Given the description of an element on the screen output the (x, y) to click on. 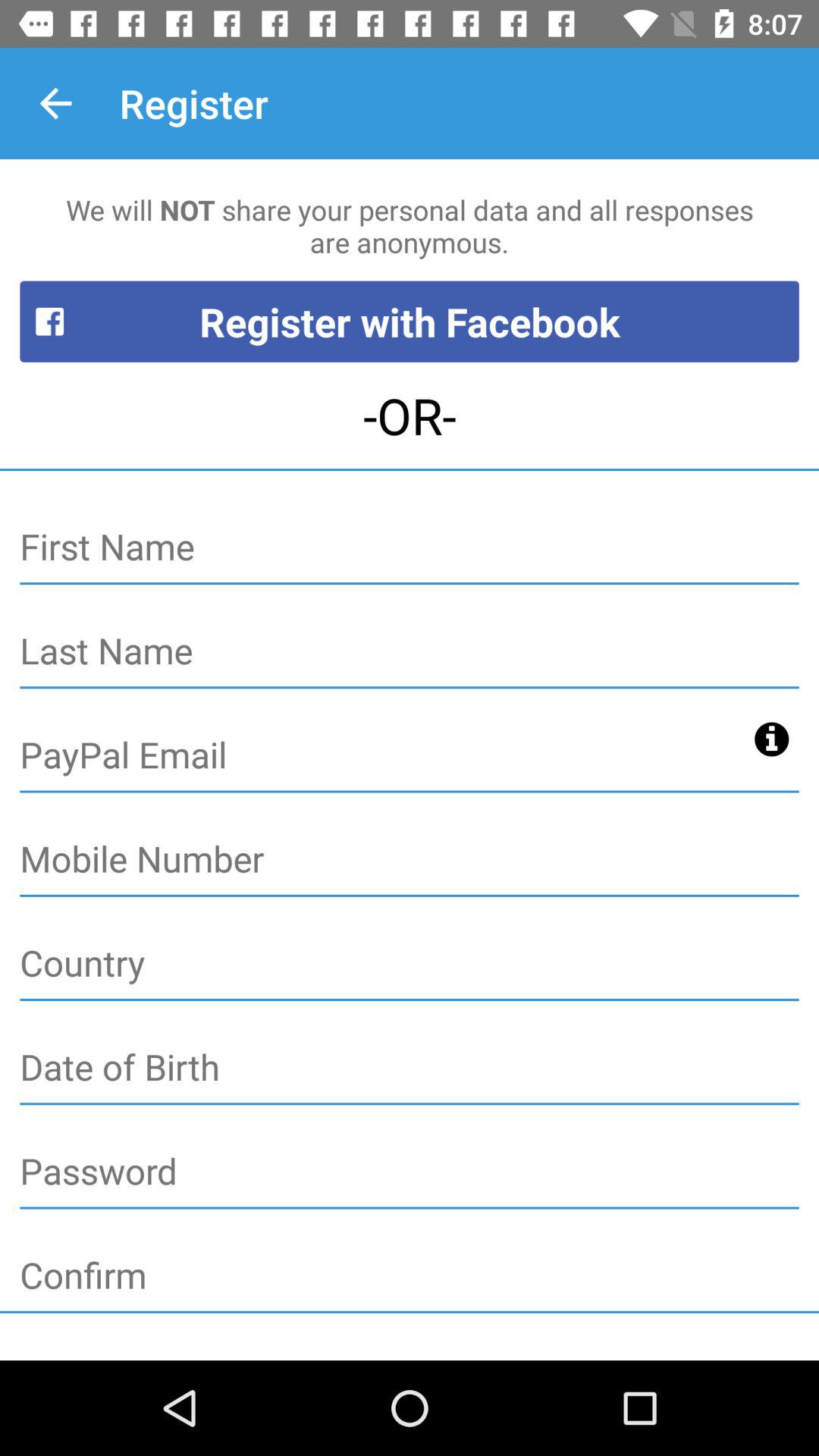
enter date of birth (409, 1068)
